Given the description of an element on the screen output the (x, y) to click on. 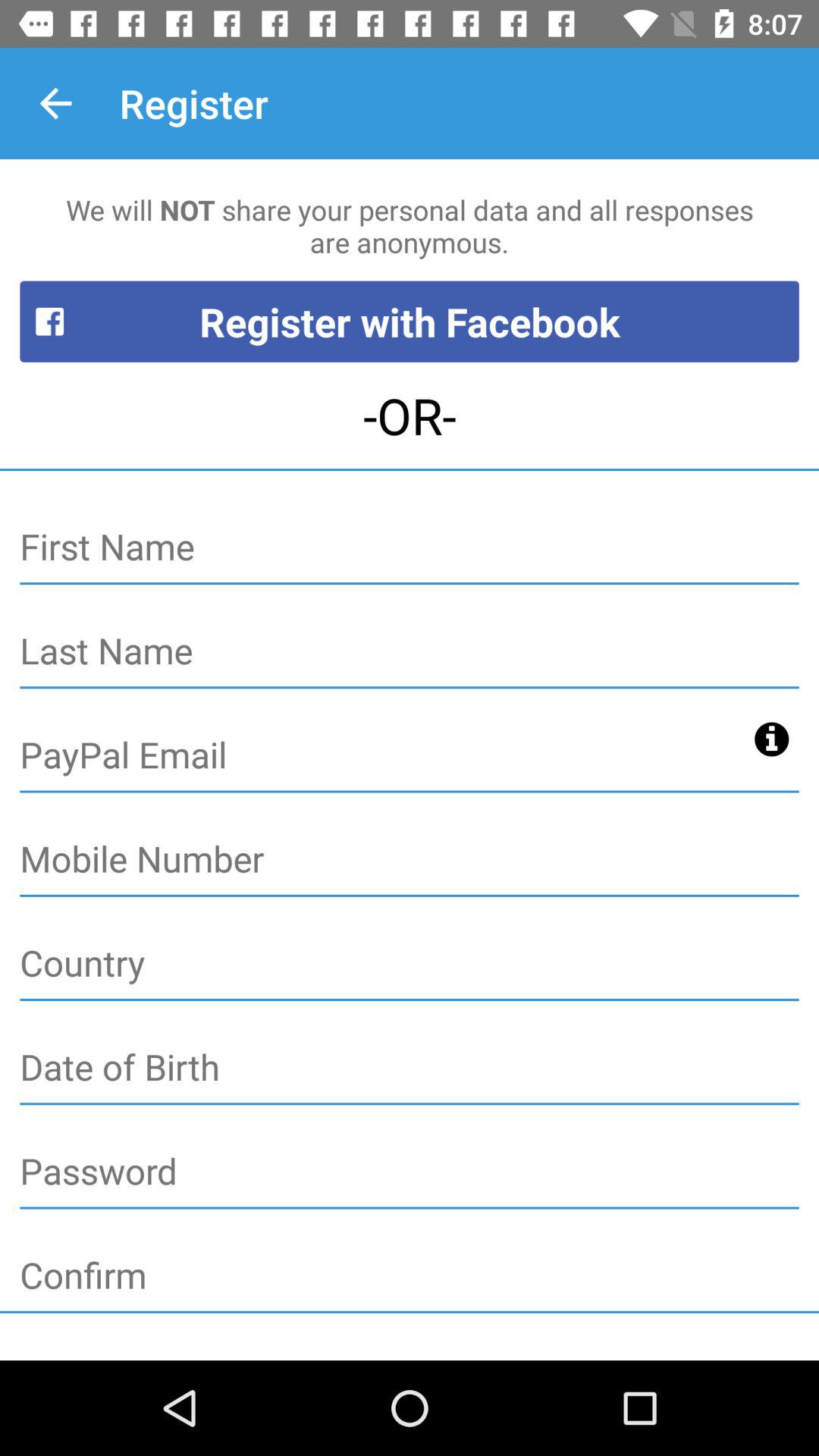
enter date of birth (409, 1068)
